Given the description of an element on the screen output the (x, y) to click on. 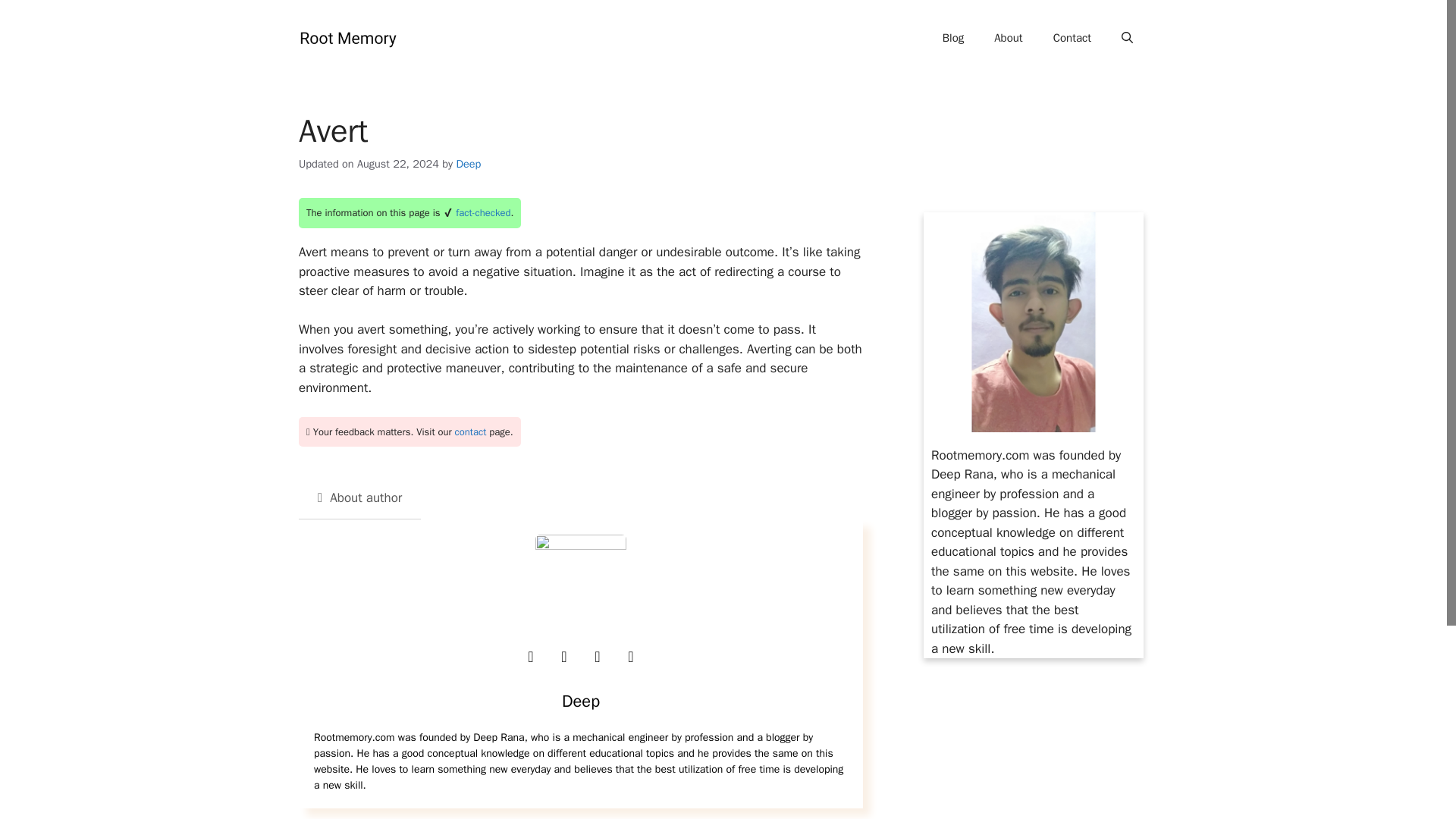
View all posts by Deep (467, 163)
About (1007, 37)
Blog (952, 37)
Deep (467, 163)
fact-checked (483, 212)
Contact (1072, 37)
contact (470, 431)
